Given the description of an element on the screen output the (x, y) to click on. 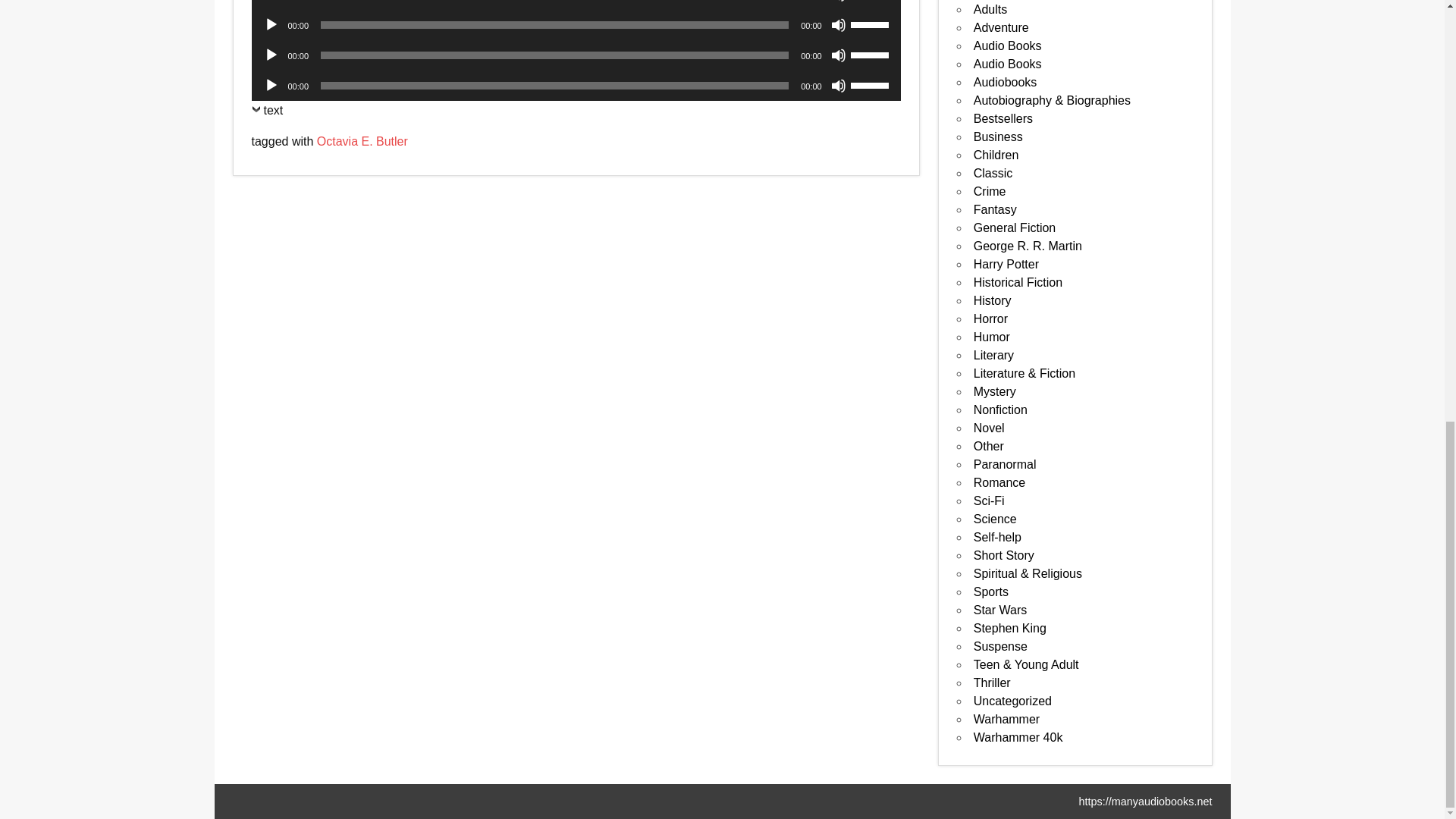
Mute (838, 24)
Play (271, 1)
Play (271, 24)
Mute (838, 1)
Play (271, 55)
